Given the description of an element on the screen output the (x, y) to click on. 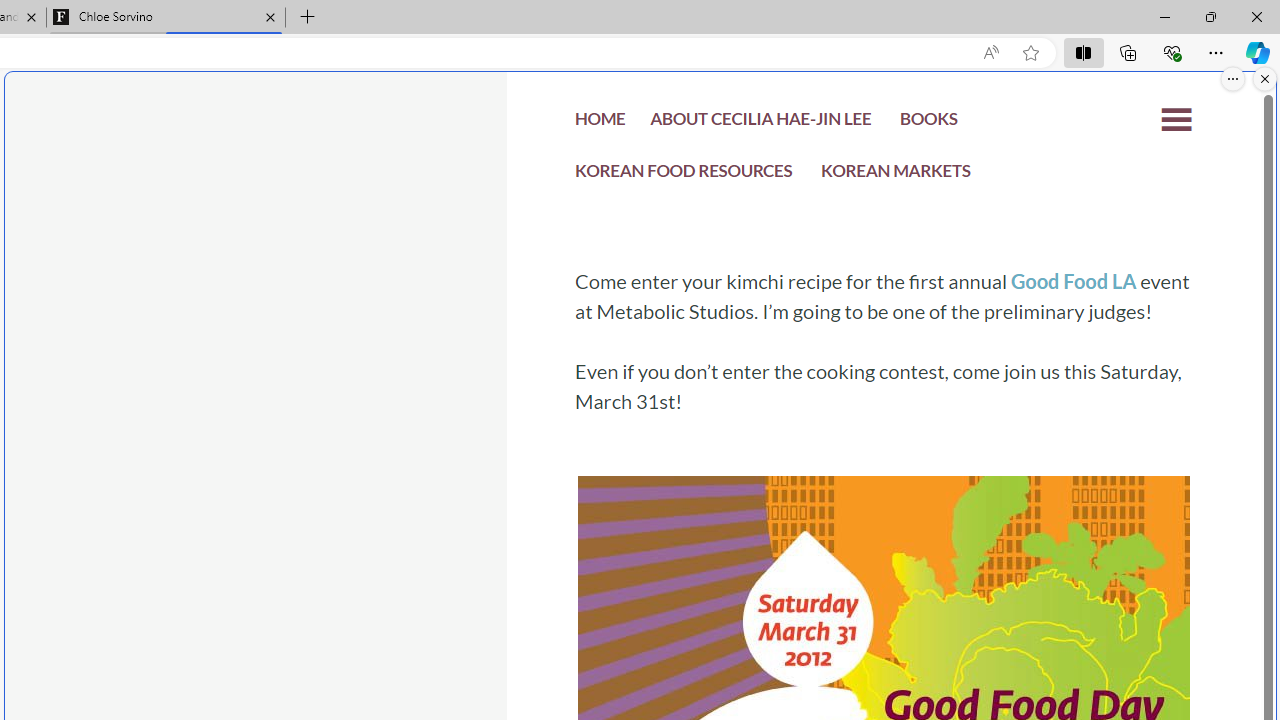
KOREAN MARKETS (895, 173)
BOOKS (928, 124)
BOOKS (928, 121)
KOREAN MARKETS (895, 175)
Chloe Sorvino (166, 17)
KOREAN FOOD RESOURCES (683, 173)
ABOUT CECILIA HAE-JIN LEE (760, 124)
Good Food LA (1072, 281)
